Given the description of an element on the screen output the (x, y) to click on. 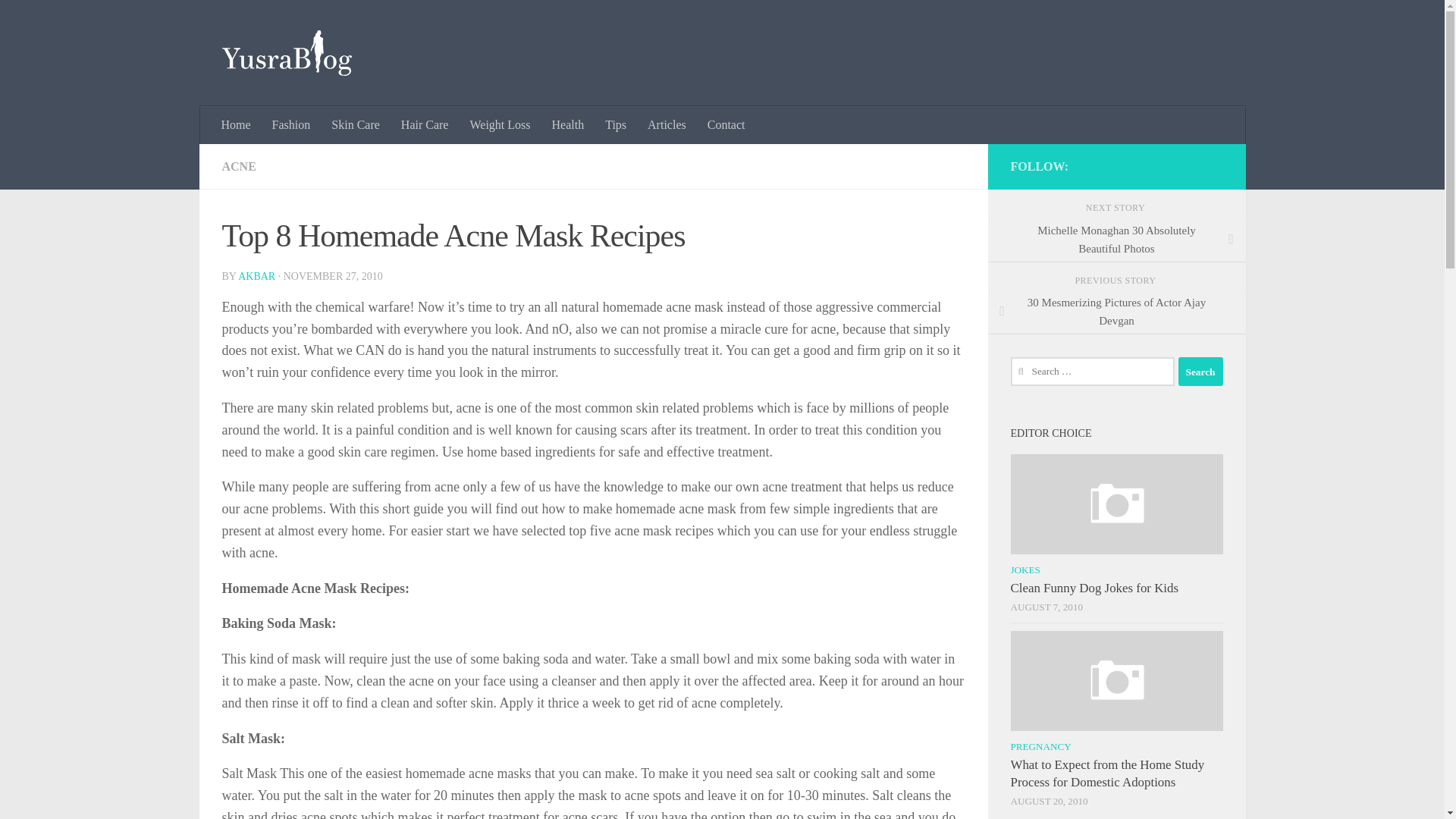
Search (1200, 371)
Articles (667, 125)
Contact (726, 125)
Hair Care (425, 125)
Tips (615, 125)
Home (236, 125)
Skin Care (355, 125)
ACNE (238, 165)
Weight Loss (499, 125)
Fashion (291, 125)
Health (568, 125)
Posts by akbar (256, 276)
Skip to content (59, 20)
AKBAR (256, 276)
Search (1200, 371)
